Given the description of an element on the screen output the (x, y) to click on. 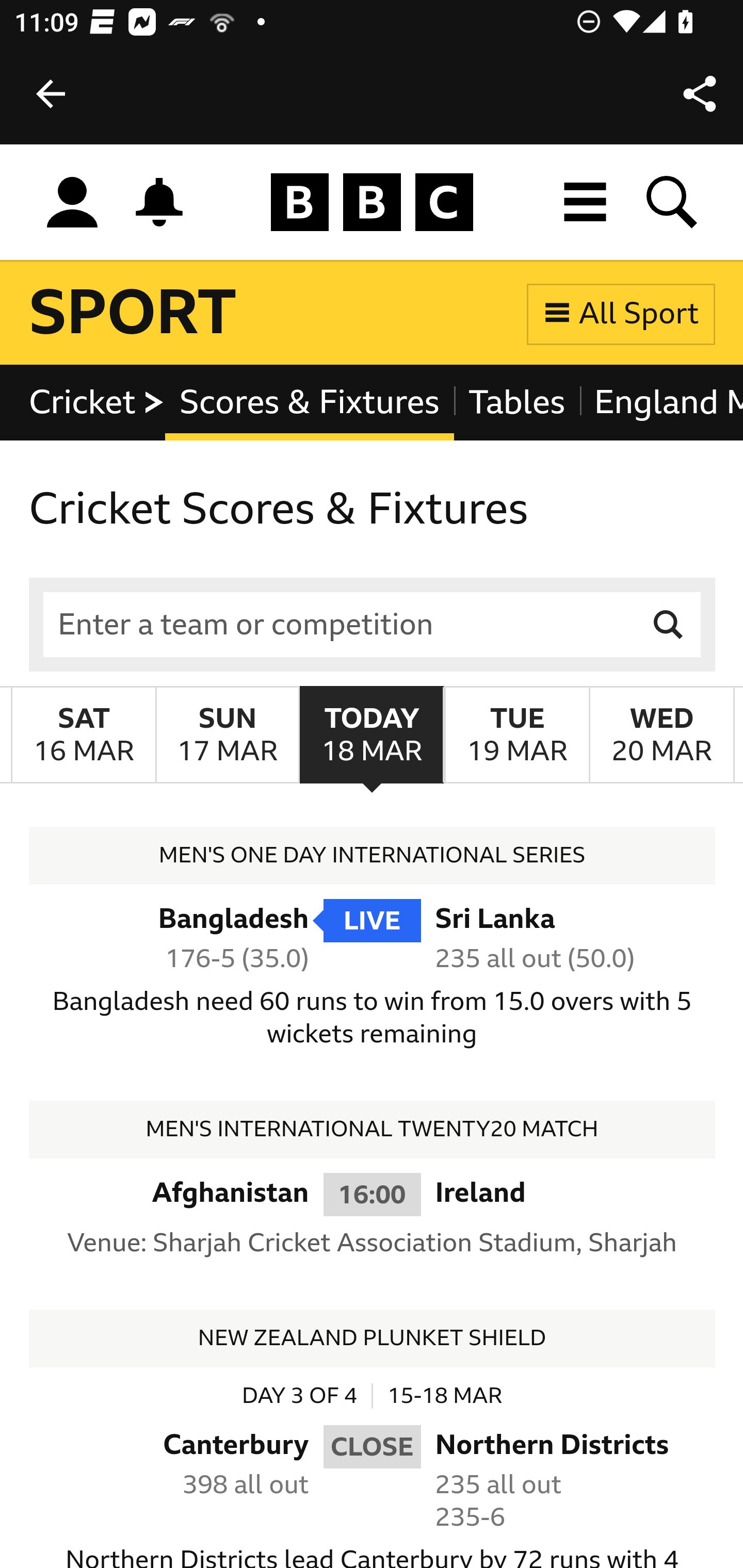
Back (50, 93)
Share (699, 93)
Notifications (159, 202)
All BBC destinations menu (585, 202)
Search BBC (672, 202)
Sign in (71, 203)
Homepage (371, 203)
BBC SPORT BBC SPORT (133, 313)
 All Sport (620, 314)
Cricket  (97, 402)
Scores & Fixtures (309, 402)
Tables (517, 402)
England Men (660, 402)
Search (669, 624)
SaturdayMarch 16th Saturday March 16th (83, 735)
SundayMarch 17th Sunday March 17th (227, 735)
TuesdayMarch 19th Tuesday March 19th (516, 735)
WednesdayMarch 20th Wednesday March 20th (661, 735)
